Given the description of an element on the screen output the (x, y) to click on. 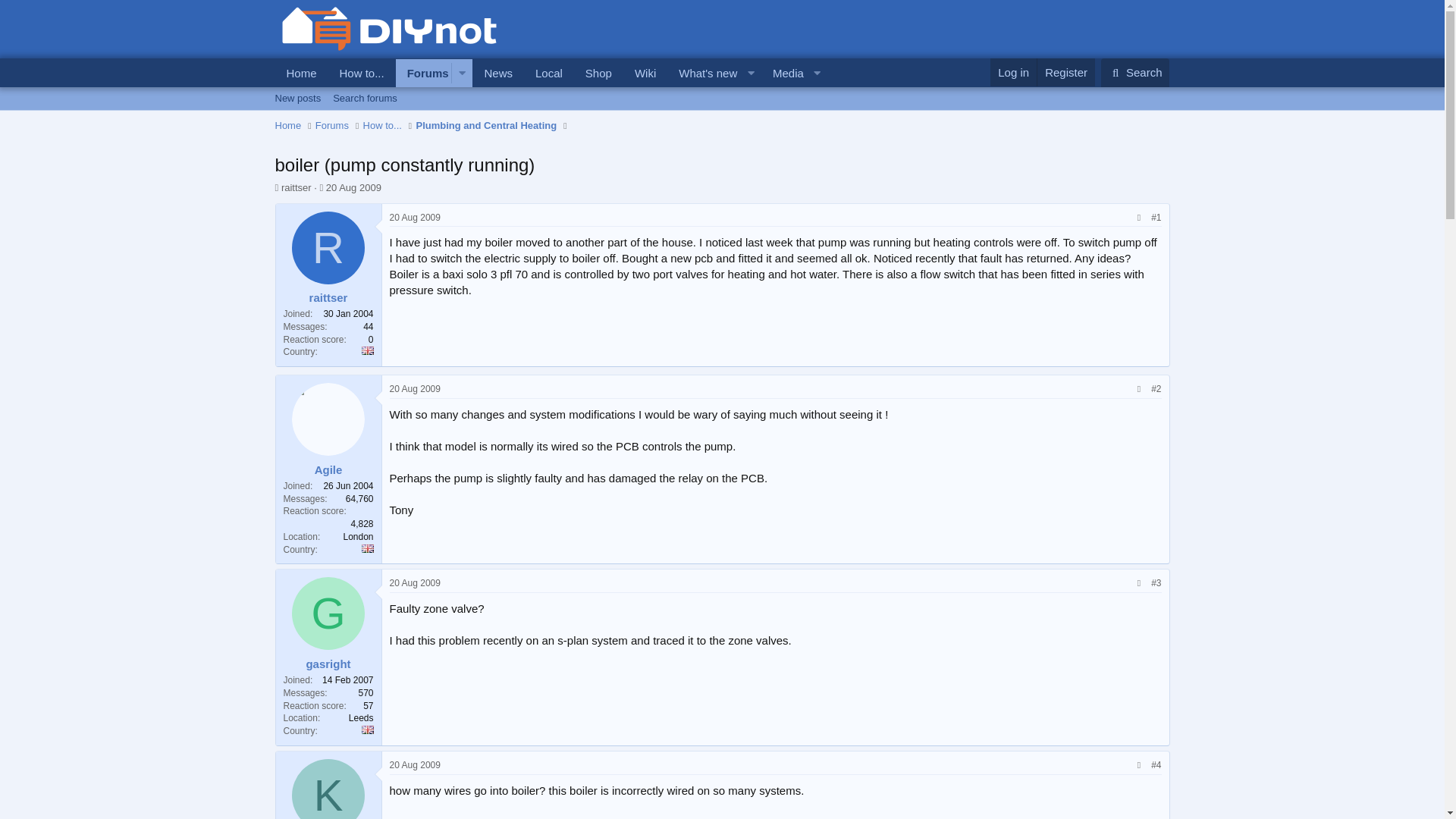
20 Aug 2009 at 2:33 PM (353, 187)
United Kingdom (366, 729)
Home (288, 125)
20 Aug 2009 at 2:33 PM (415, 217)
Local (550, 89)
Search forums (548, 72)
Forums (364, 97)
What's new (423, 72)
20 Aug 2009 at 7:47 PM (702, 72)
